Given the description of an element on the screen output the (x, y) to click on. 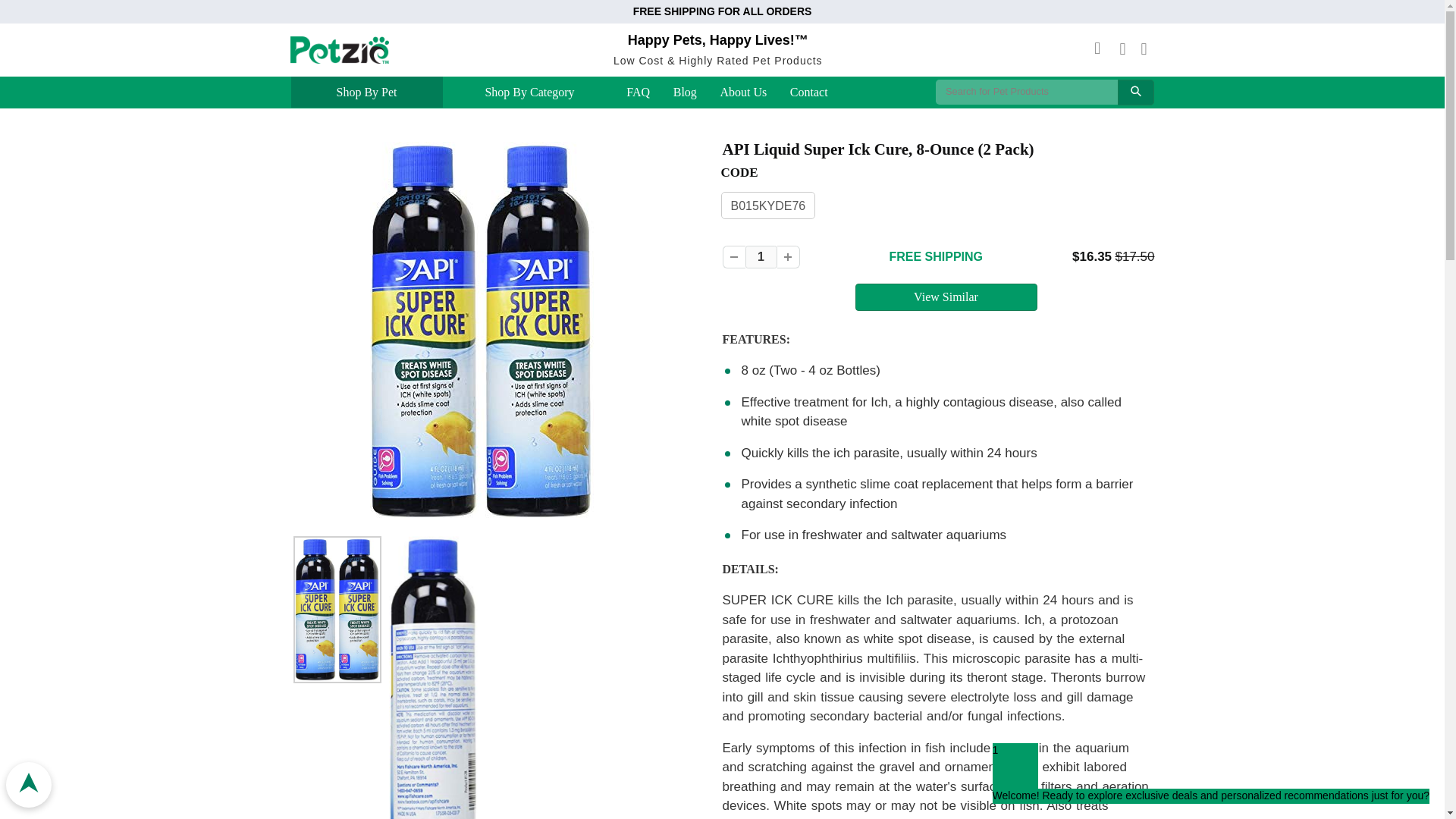
Shop By Pet (366, 92)
1 (760, 256)
